Given the description of an element on the screen output the (x, y) to click on. 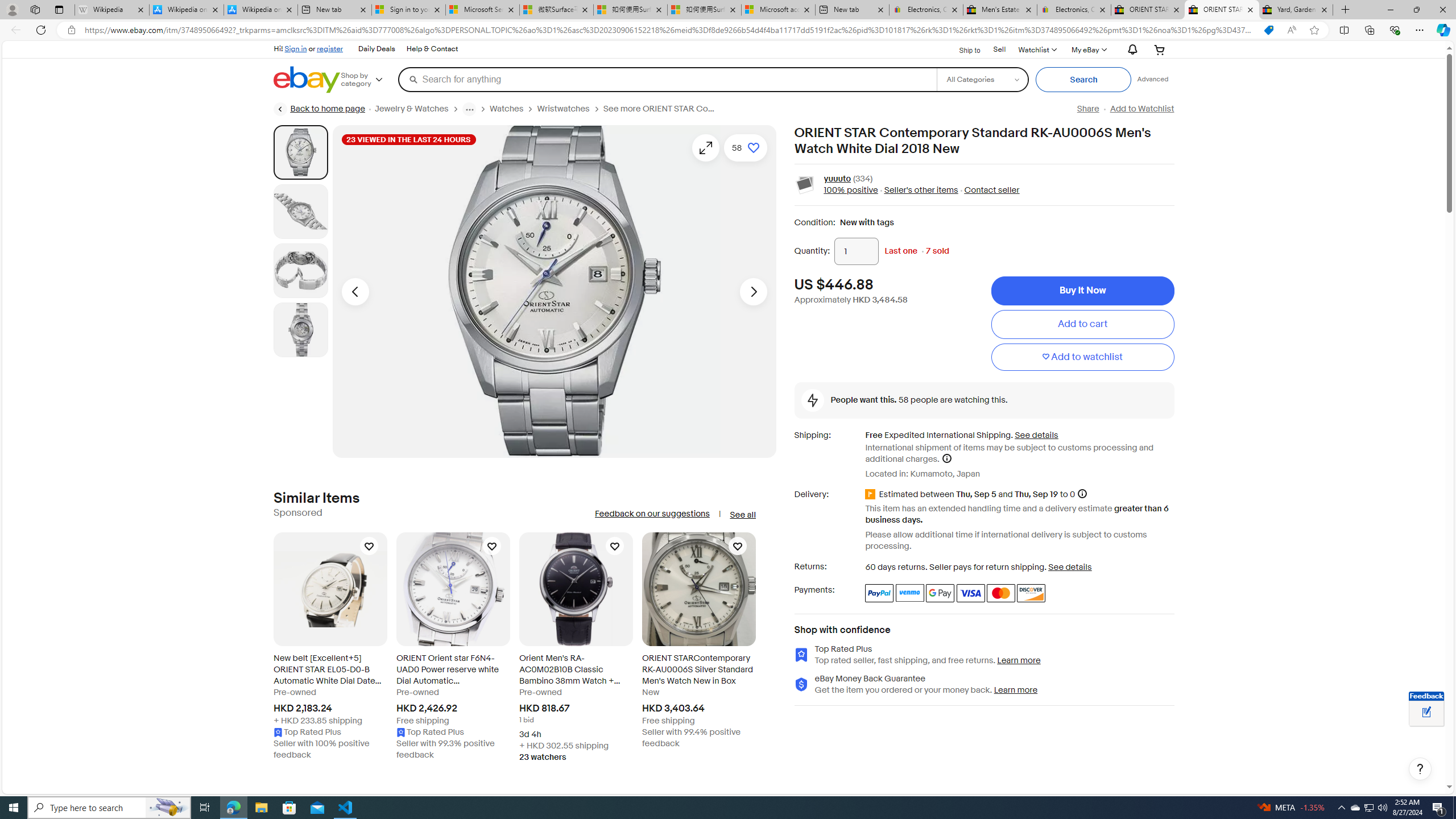
Expand Cart (1159, 49)
See more ORIENT STAR Contemporary Standard White Dial M... (664, 108)
100% positive (850, 190)
Daily Deals (376, 49)
Advanced Search (1152, 78)
Help & Contact (431, 49)
Search for anything (666, 78)
See more ORIENT STAR Contemporary Standard White Dial M... (659, 108)
Buy It Now (1082, 290)
100% positive (850, 190)
